Given the description of an element on the screen output the (x, y) to click on. 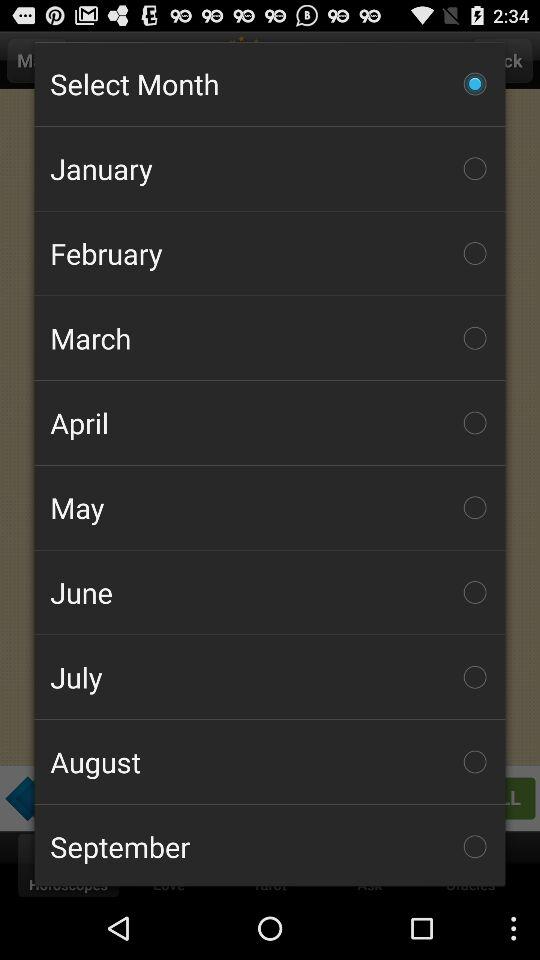
click the item below april item (269, 507)
